Given the description of an element on the screen output the (x, y) to click on. 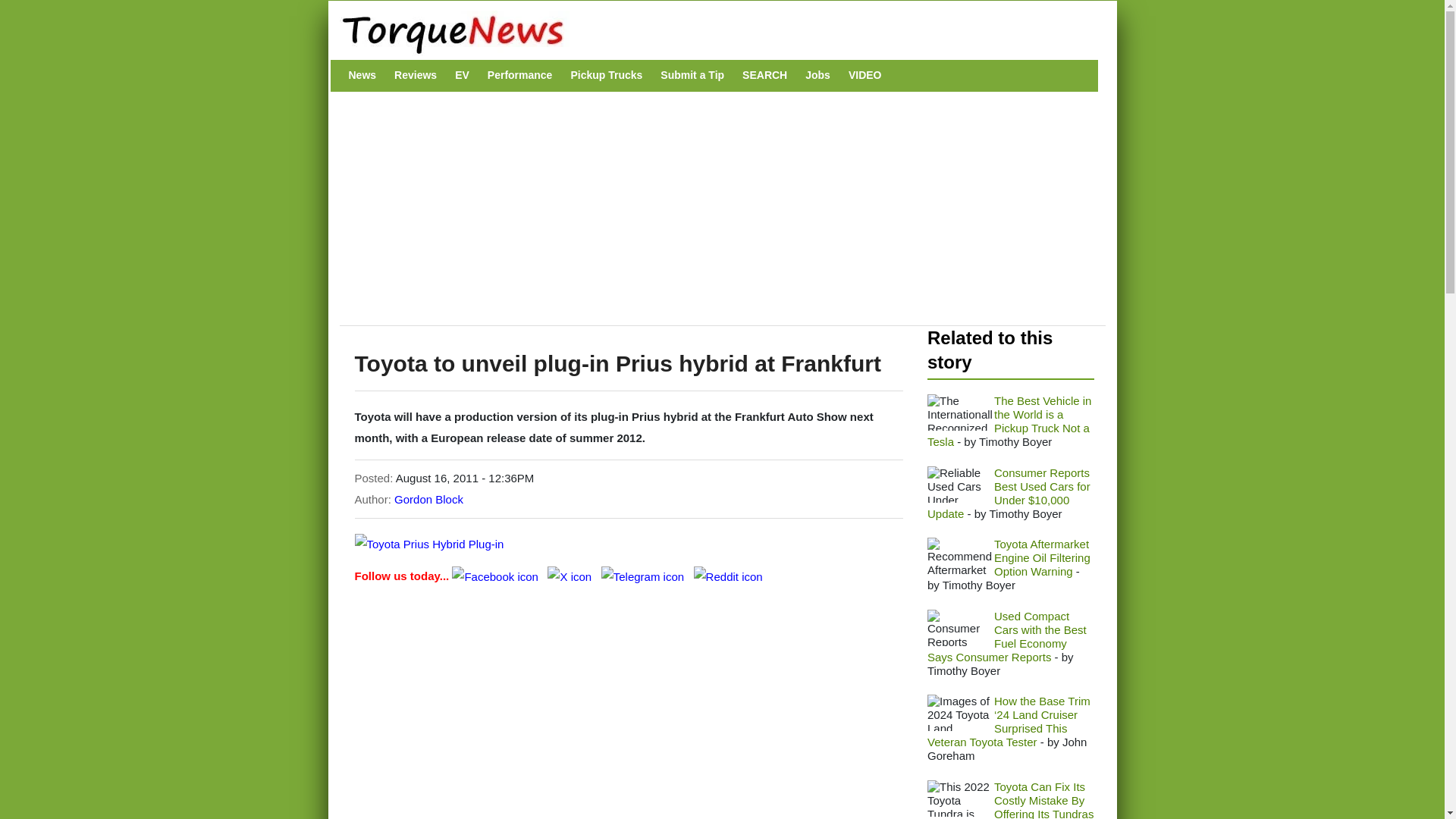
Reviews (415, 75)
Pickup Trucks (605, 75)
Tesla is No Toyota (959, 411)
Submit a Tip (691, 75)
News (362, 75)
View user profile. (428, 499)
Gordon Block (428, 499)
Best Fuel Sipping Models with Proven Reliability (959, 627)
Join us on Telegram! (644, 575)
